Given the description of an element on the screen output the (x, y) to click on. 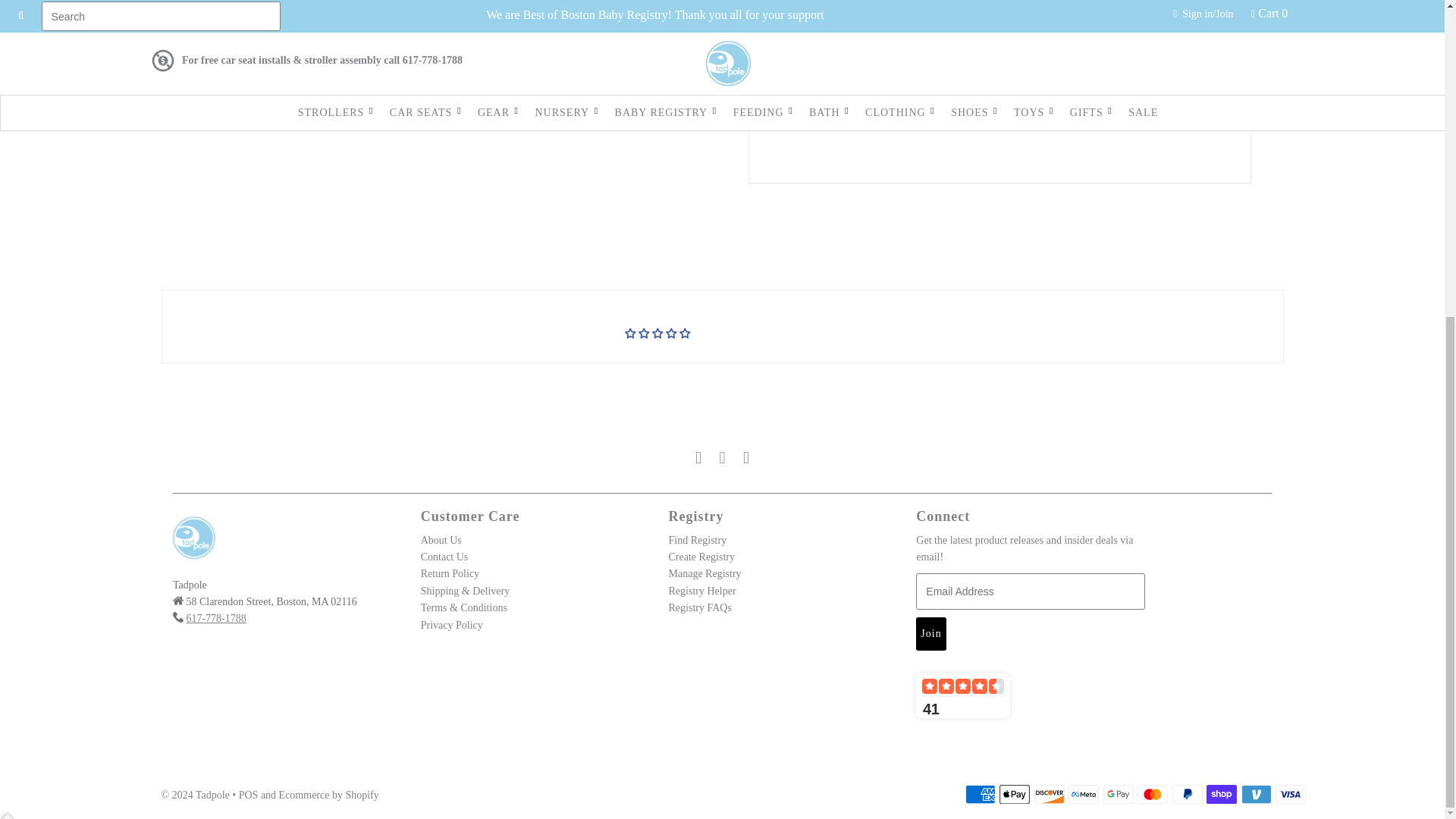
Google Pay (1118, 794)
Mastercard (1152, 794)
Meta Pay (1083, 794)
PayPal (1187, 794)
Apple Pay (1013, 794)
Discover (1048, 794)
Visa (1290, 794)
Venmo (1256, 794)
American Express (980, 794)
Shop Pay (1221, 794)
